Given the description of an element on the screen output the (x, y) to click on. 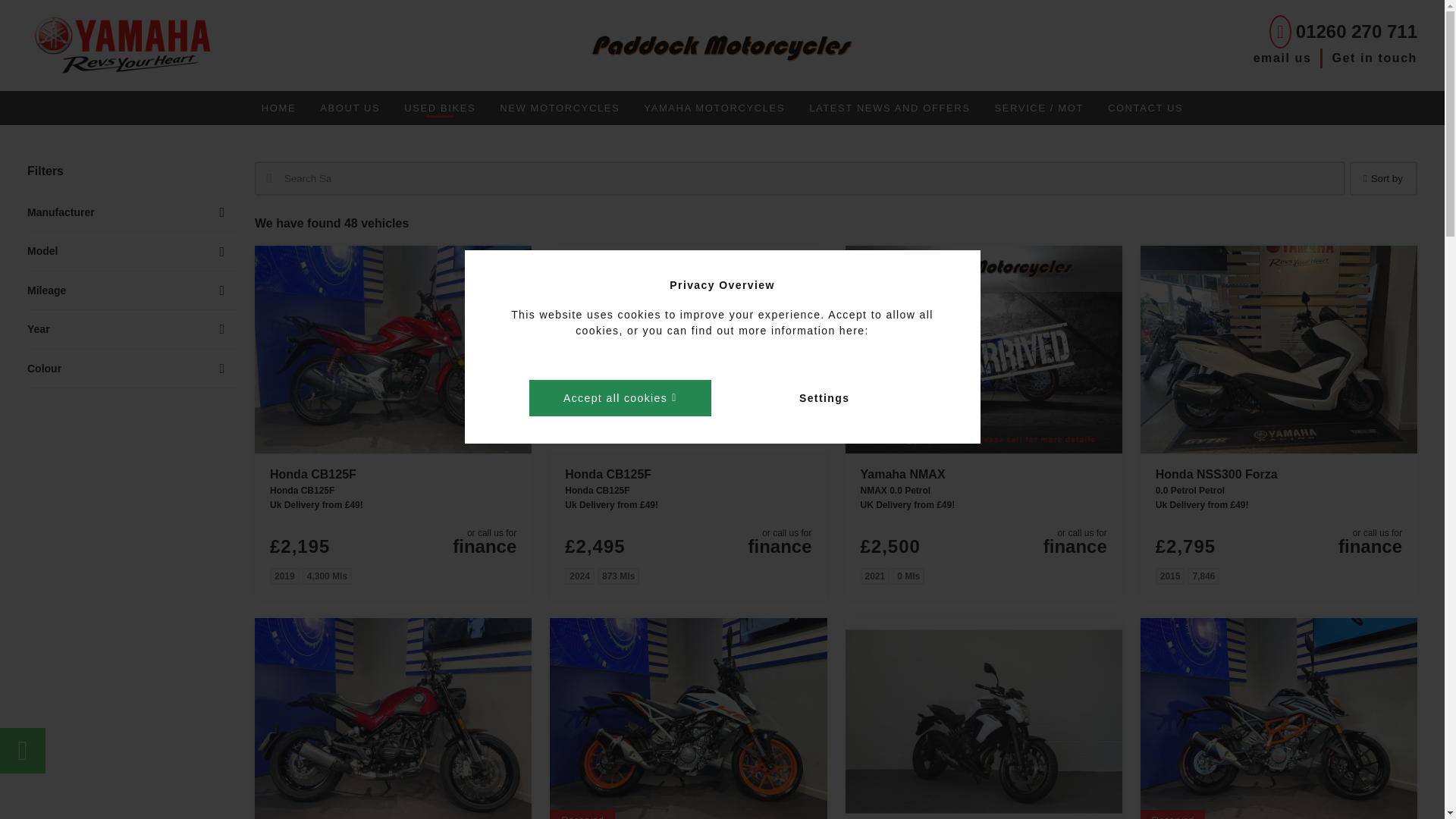
HOME (277, 108)
Contact Us (1145, 108)
About Us (349, 108)
NEW MOTORCYCLES (559, 108)
Used Bikes (439, 108)
YAMAHA MOTORCYCLES (713, 108)
Sort by (1382, 178)
email us (1288, 57)
Home (277, 108)
ABOUT US (349, 108)
